Given the description of an element on the screen output the (x, y) to click on. 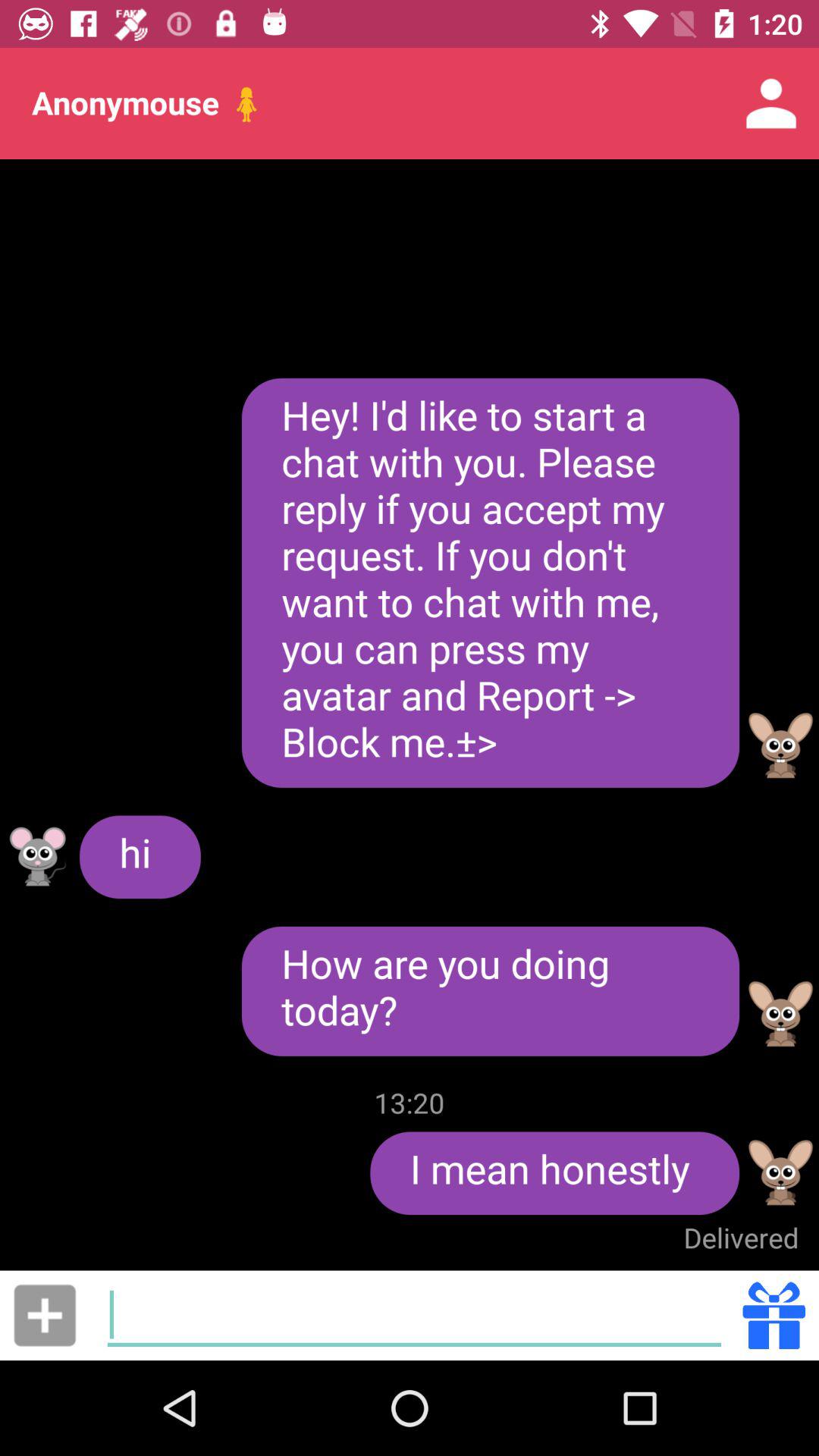
turn off the icon above 13:20 icon (490, 991)
